Given the description of an element on the screen output the (x, y) to click on. 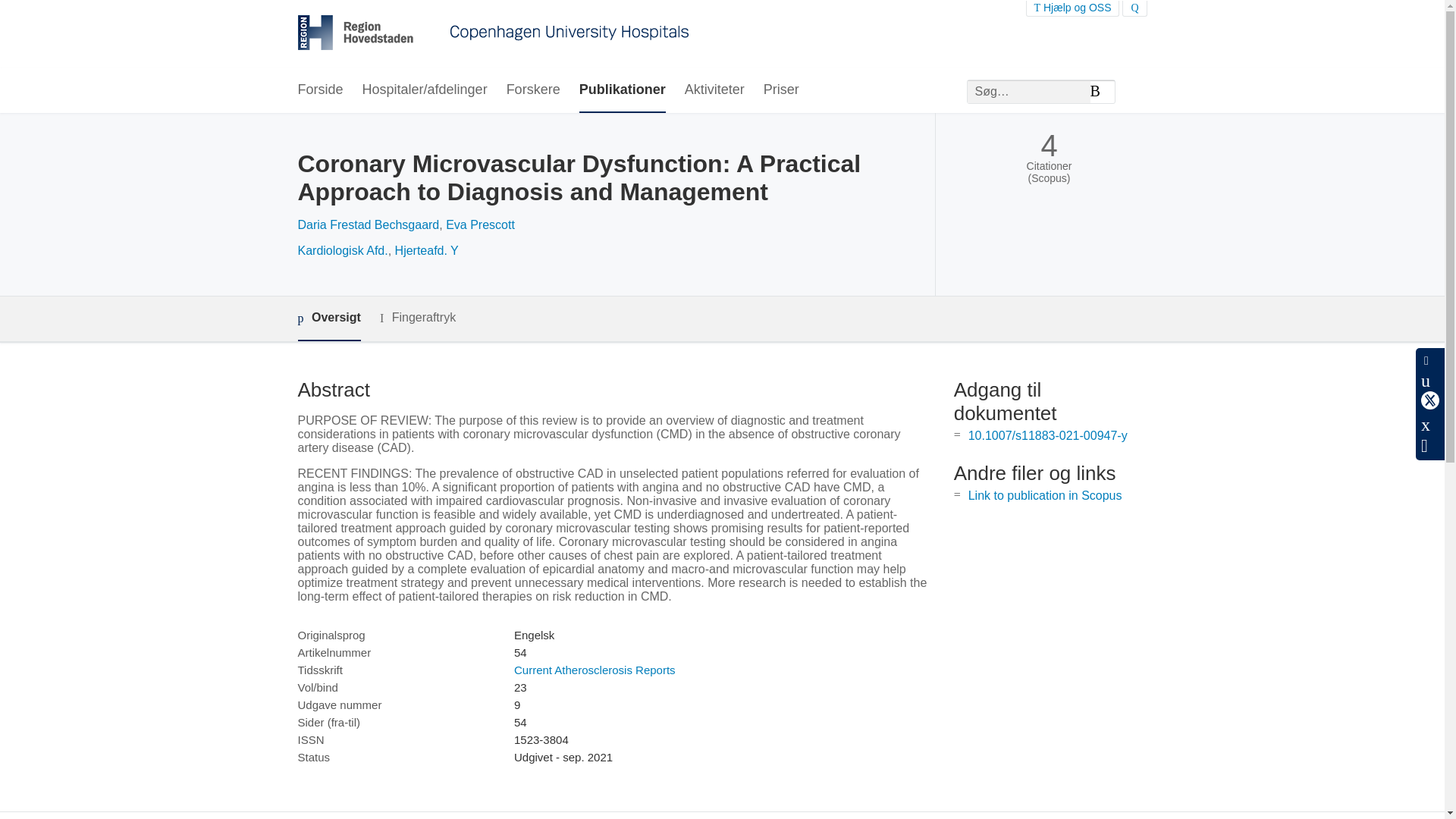
Fingeraftryk (417, 317)
Publikationer (622, 90)
Region Hovedstadens forskningsportal Forside (492, 34)
Oversigt (328, 318)
Link to publication in Scopus (1045, 495)
Aktiviteter (714, 90)
Forside (319, 90)
Hjerteafd. Y (426, 250)
Forskere (533, 90)
Daria Frestad Bechsgaard (368, 224)
Eva Prescott (480, 224)
Kardiologisk Afd. (342, 250)
Current Atherosclerosis Reports (594, 669)
